Given the description of an element on the screen output the (x, y) to click on. 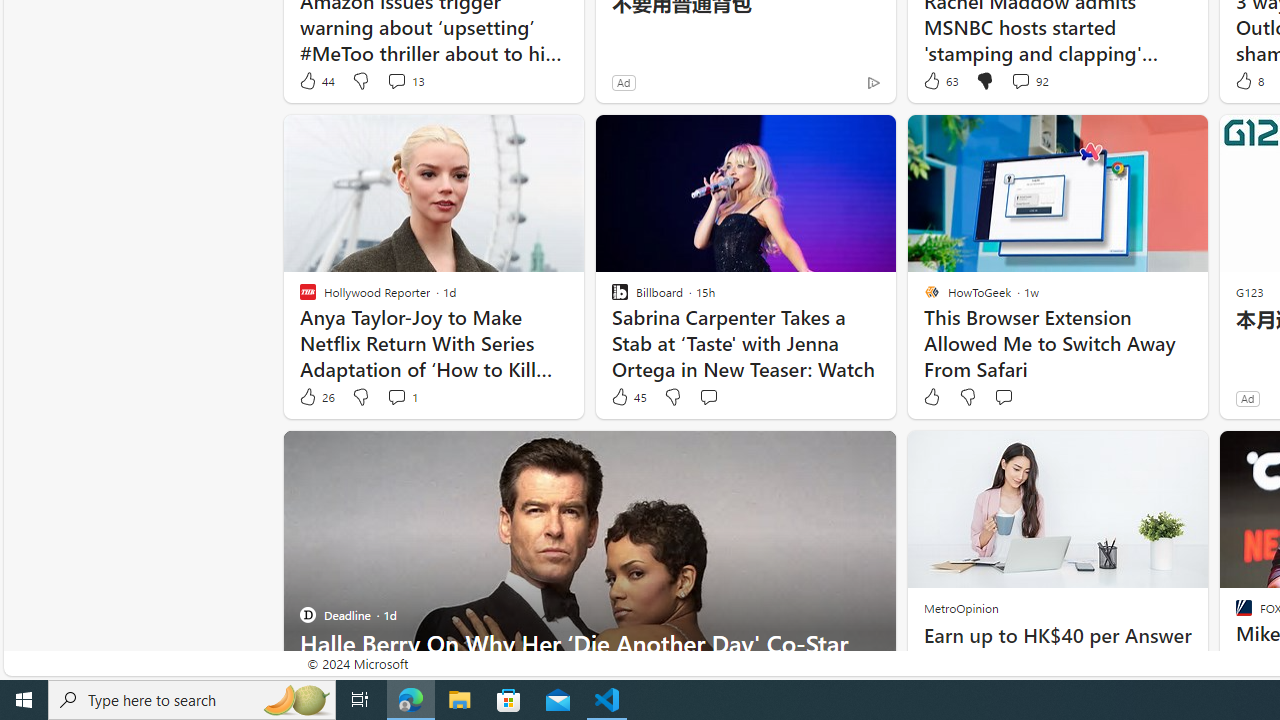
Dislike (966, 397)
Like (930, 397)
Ad Choice (873, 82)
Ad (1247, 398)
View comments 1 Comment (396, 396)
View comments 13 Comment (404, 80)
View comments 13 Comment (396, 80)
View comments 92 Comment (1019, 80)
Start the conversation (1003, 396)
Hide this story (835, 454)
Earn up to HK$40 per Answer (1056, 636)
View comments 1 Comment (401, 397)
MetroOpinion (960, 607)
View comments 92 Comment (1029, 80)
See more (871, 454)
